Given the description of an element on the screen output the (x, y) to click on. 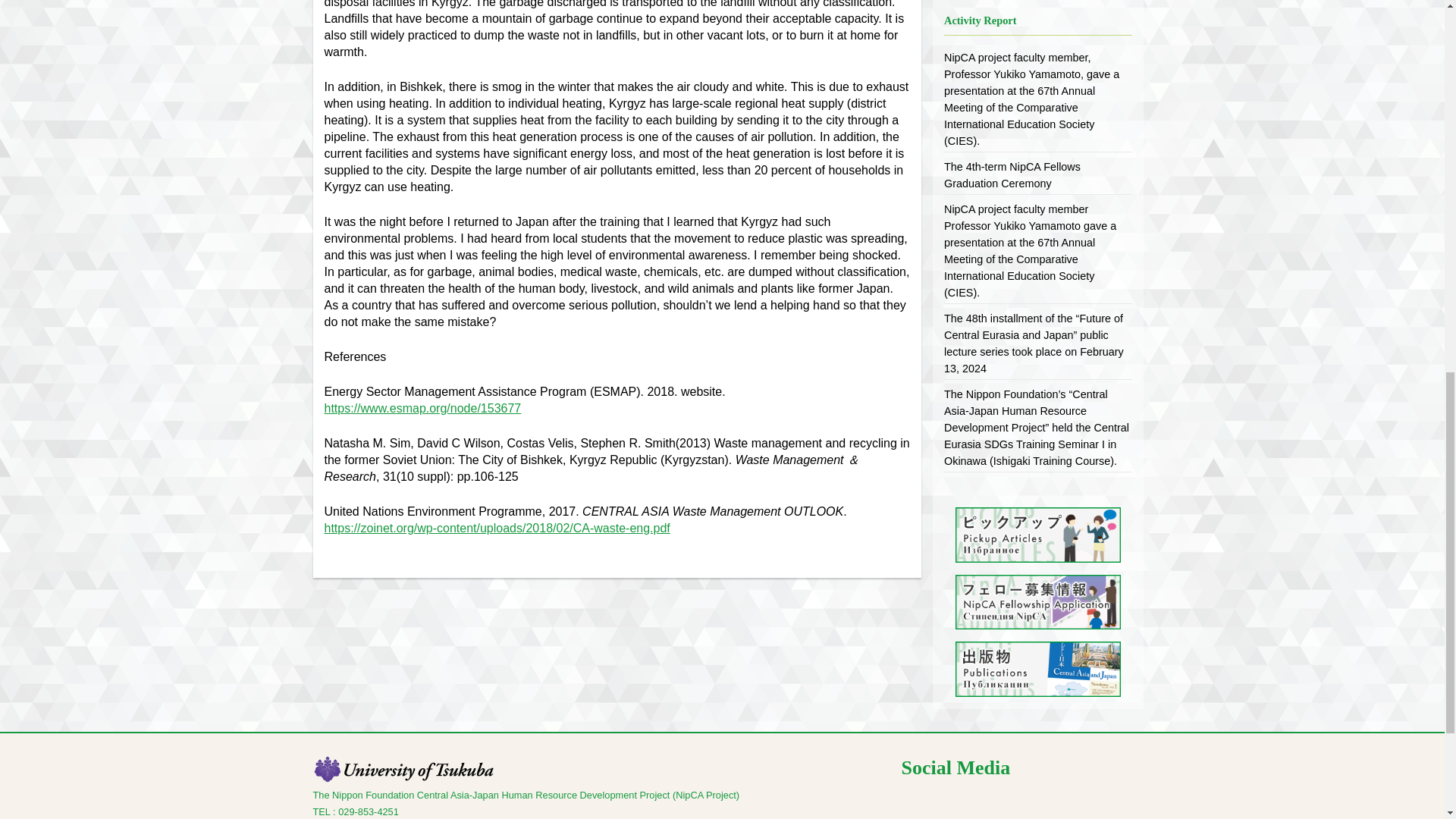
The 4th-term NipCA Fellows Graduation Ceremony (1011, 174)
